Given the description of an element on the screen output the (x, y) to click on. 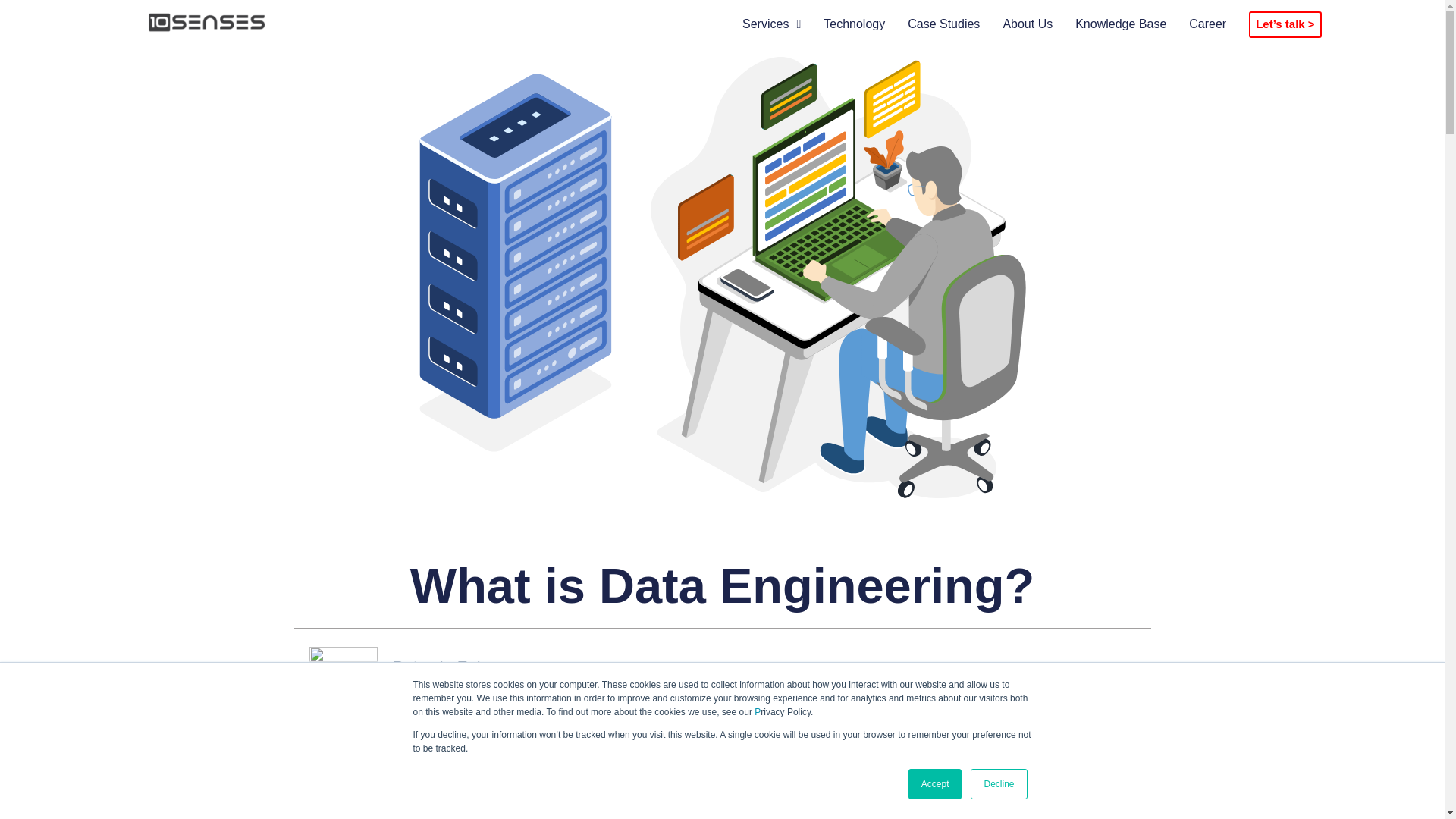
Accept (935, 784)
Services (771, 24)
About Us (1027, 24)
P (757, 711)
Knowledge Base (1120, 24)
Technology (854, 24)
Decline (998, 784)
Case Studies (943, 24)
Career (1207, 24)
